Given the description of an element on the screen output the (x, y) to click on. 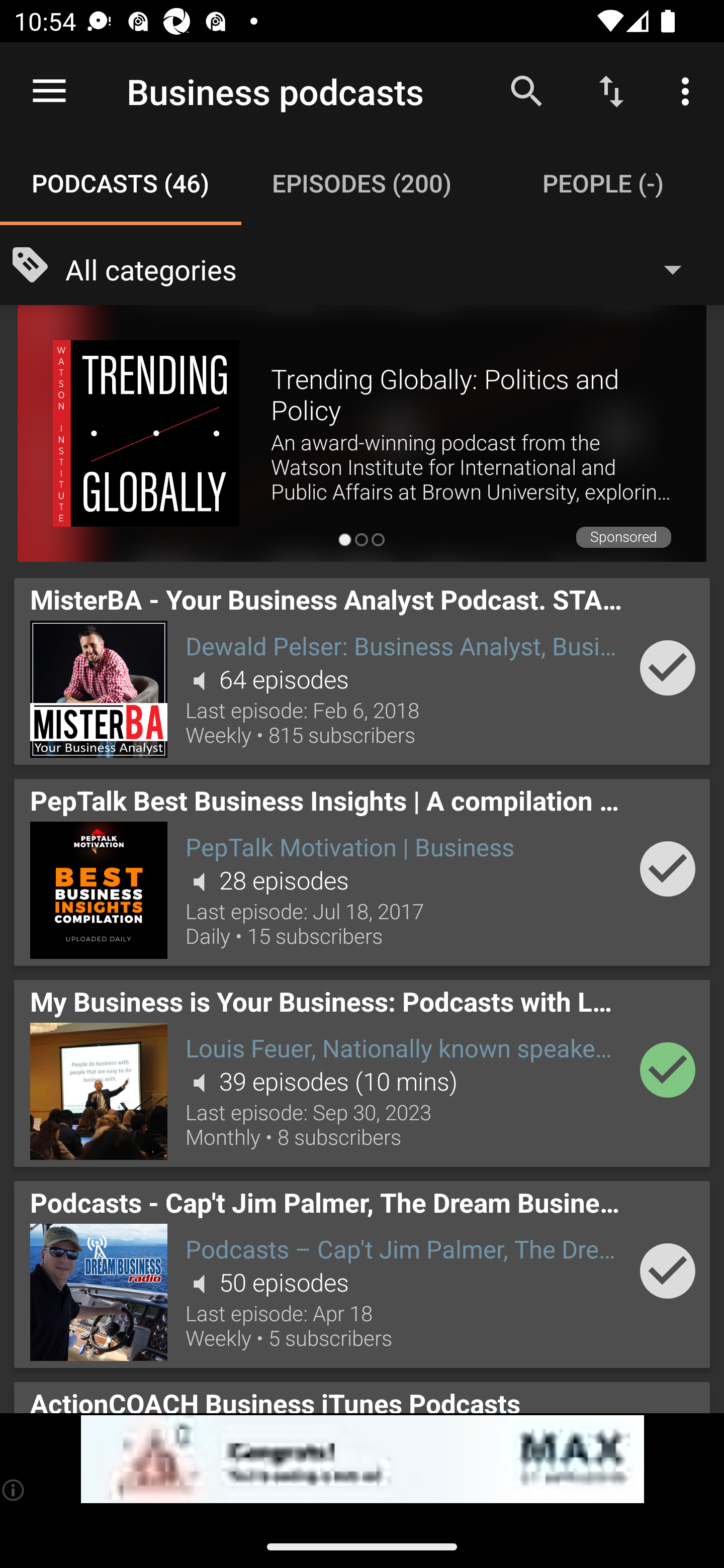
Open navigation sidebar (49, 91)
Search (526, 90)
Sort (611, 90)
More options (688, 90)
Episodes (200) EPISODES (200) (361, 183)
People (-) PEOPLE (-) (603, 183)
All categories (383, 268)
Add (667, 667)
Add (667, 868)
Add (667, 1069)
Add (667, 1271)
app-monetization (362, 1459)
(i) (14, 1489)
